Given the description of an element on the screen output the (x, y) to click on. 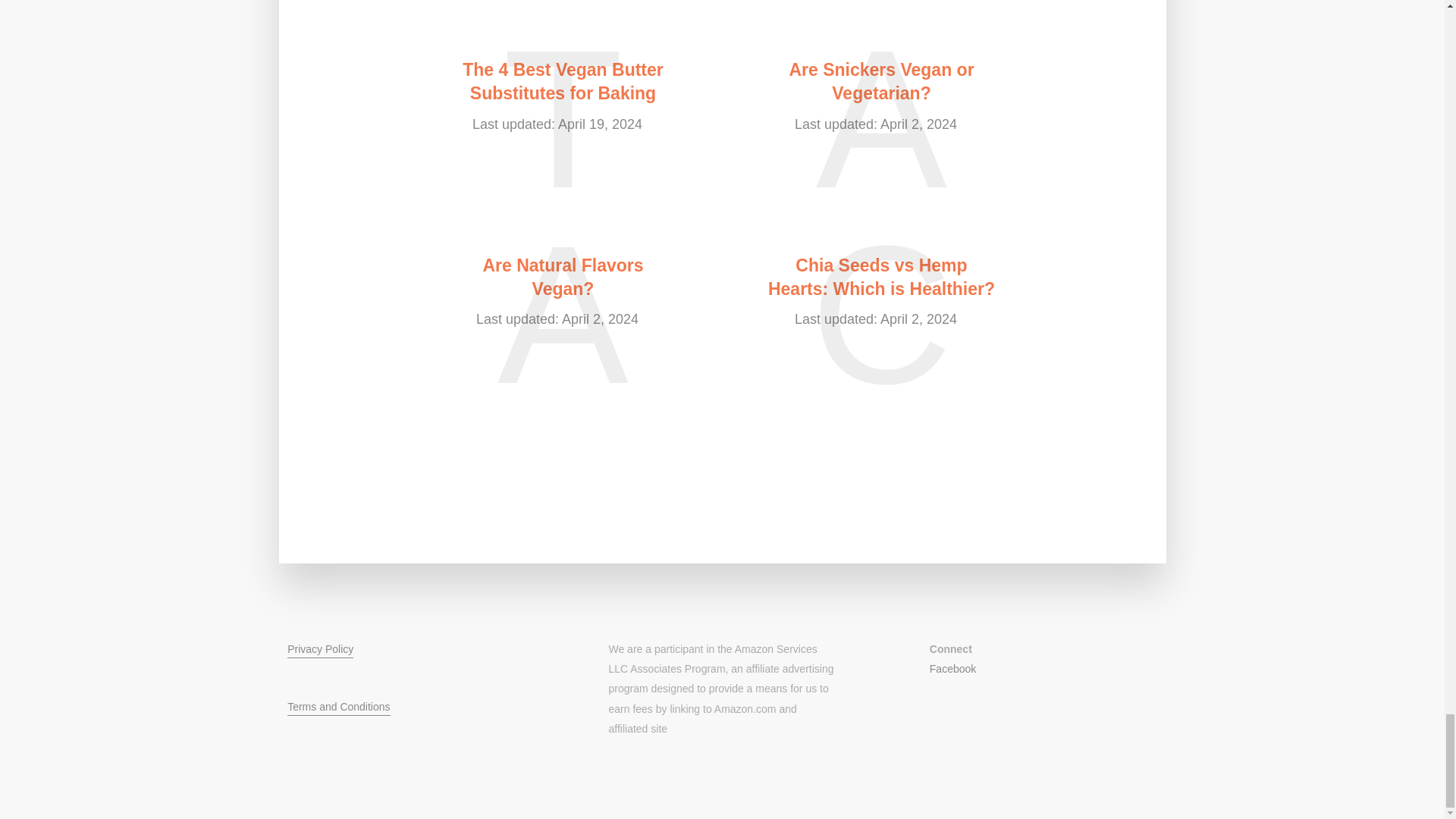
Chia Seeds vs Hemp Hearts: Which is Healthier? (880, 277)
Are Natural Flavors Vegan? (562, 277)
Facebook (952, 668)
The 4 Best Vegan Butter Substitutes for Baking (562, 81)
Are Snickers Vegan or Vegetarian? (880, 81)
Terms and Conditions (338, 708)
Privacy Policy (319, 650)
